Given the description of an element on the screen output the (x, y) to click on. 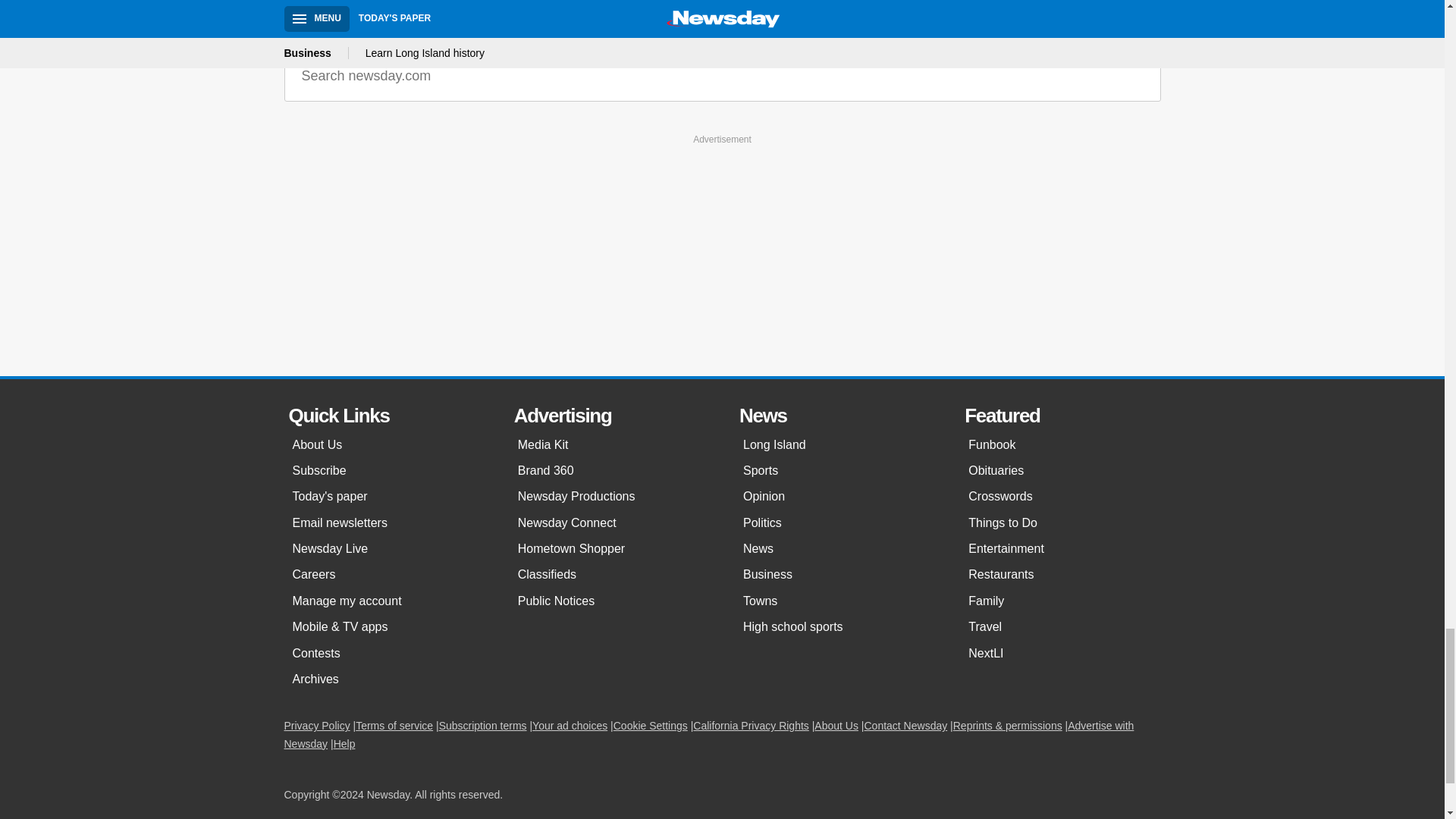
Search (1137, 75)
